Given the description of an element on the screen output the (x, y) to click on. 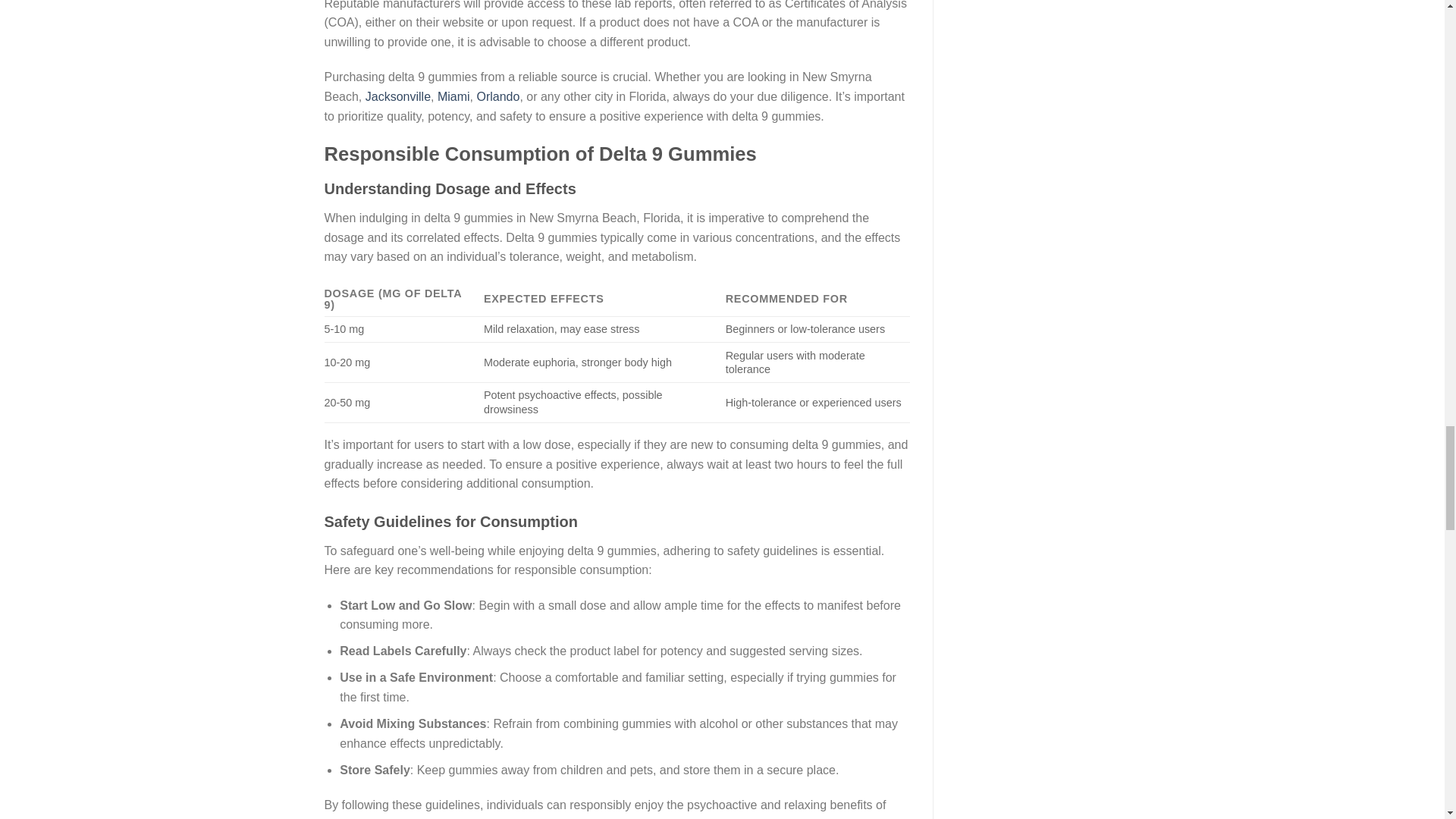
Jacksonville (397, 96)
Orlando (497, 96)
Miami (454, 96)
